Given the description of an element on the screen output the (x, y) to click on. 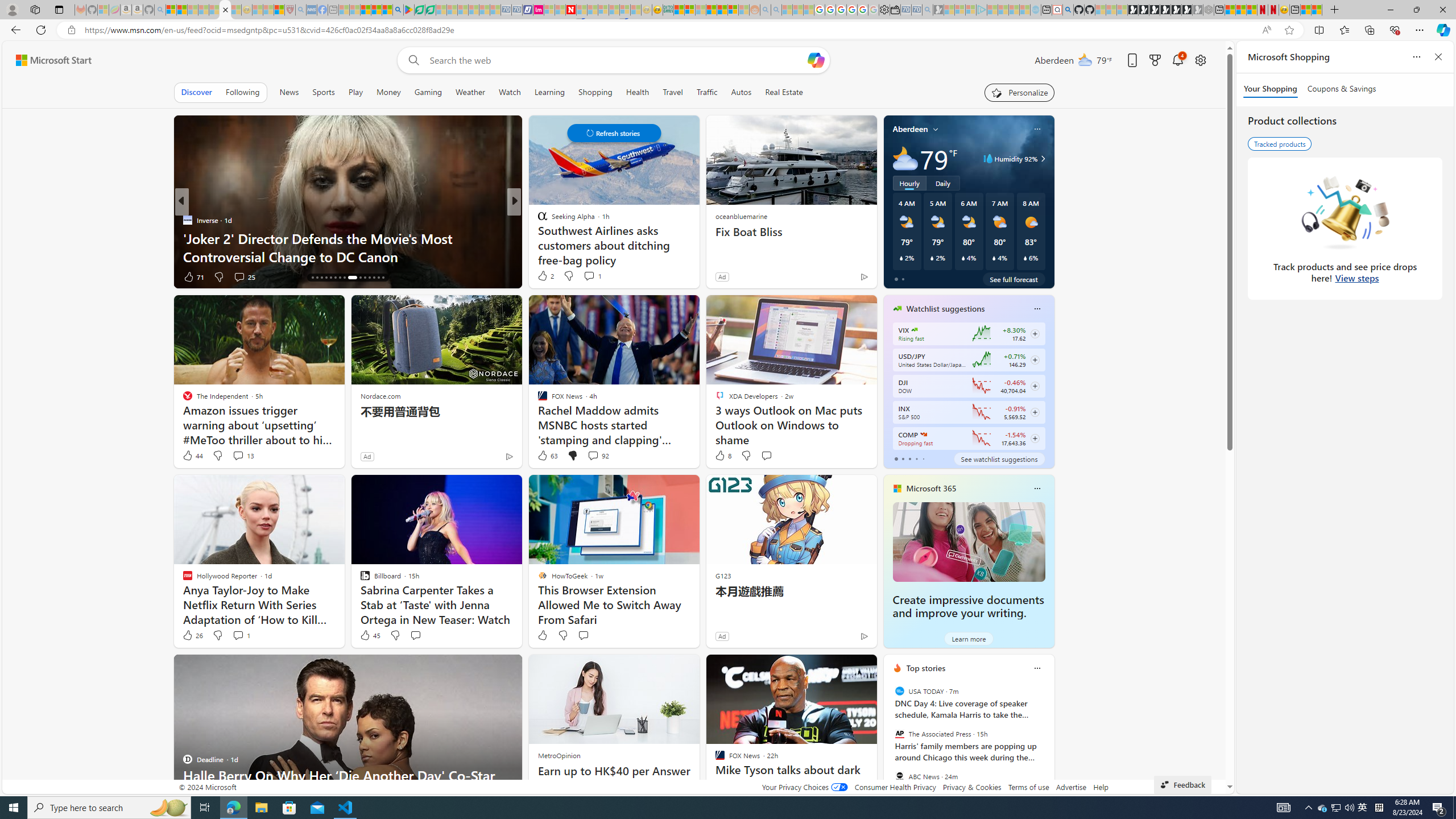
AutomationID: tab-23 (344, 277)
Learning (549, 92)
tab-1 (903, 458)
AutomationID: tab-20 (330, 277)
Sports (323, 92)
CBOE Market Volatility Index (914, 329)
Class: icon-img (1037, 668)
Microsoft rewards (1154, 60)
Class: follow-button  m (1034, 438)
